Given the description of an element on the screen output the (x, y) to click on. 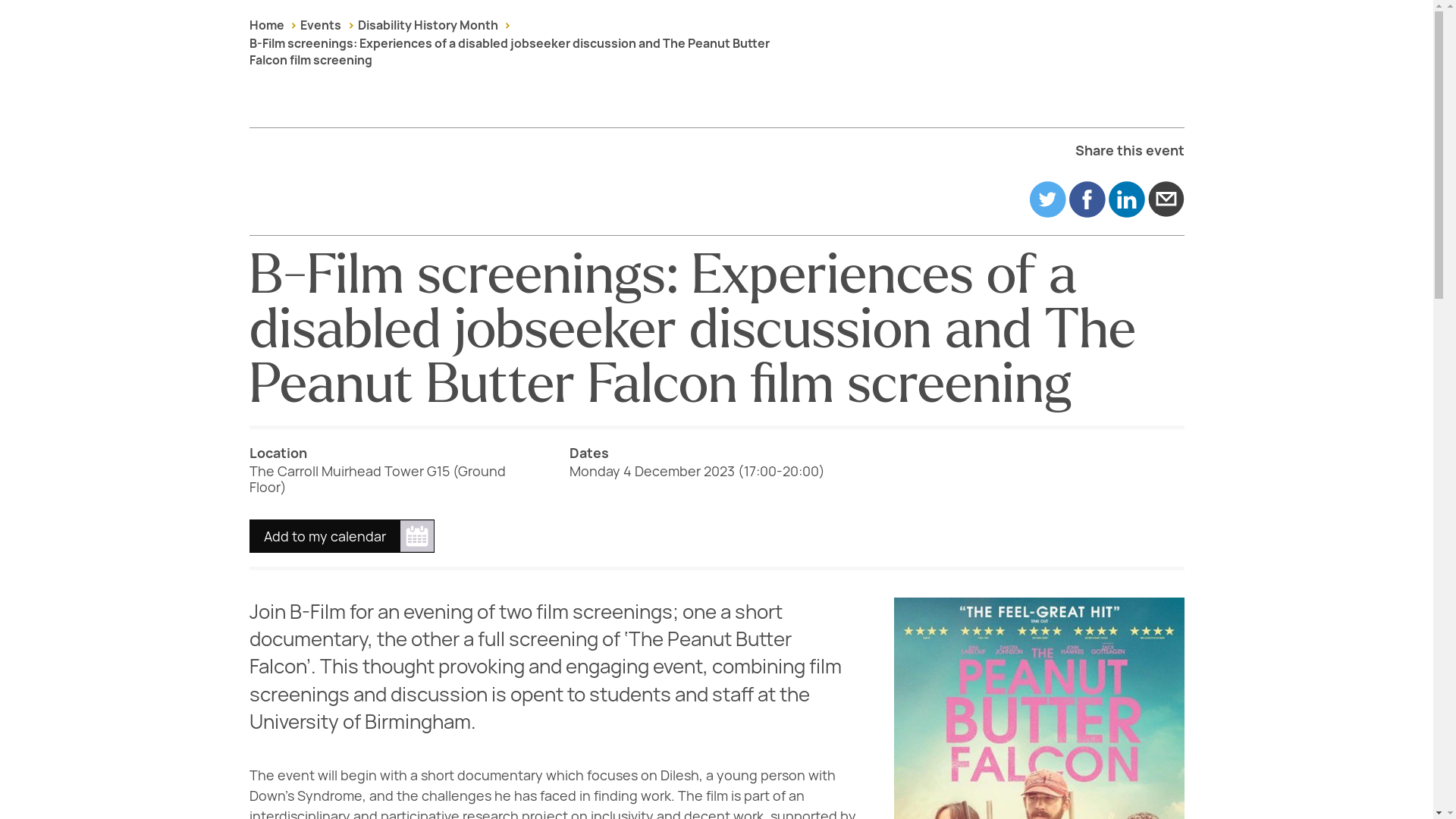
Events (319, 25)
Add to my calendar (340, 535)
Share on Twitter (1047, 198)
Share on Facebook (1086, 198)
Share in LinkedIn (1126, 198)
Share on facebook (1086, 198)
Disability History Month (427, 25)
Share on Twitter (1047, 198)
Home (265, 25)
Share on linkedin (1126, 198)
Share on email (1166, 198)
